Given the description of an element on the screen output the (x, y) to click on. 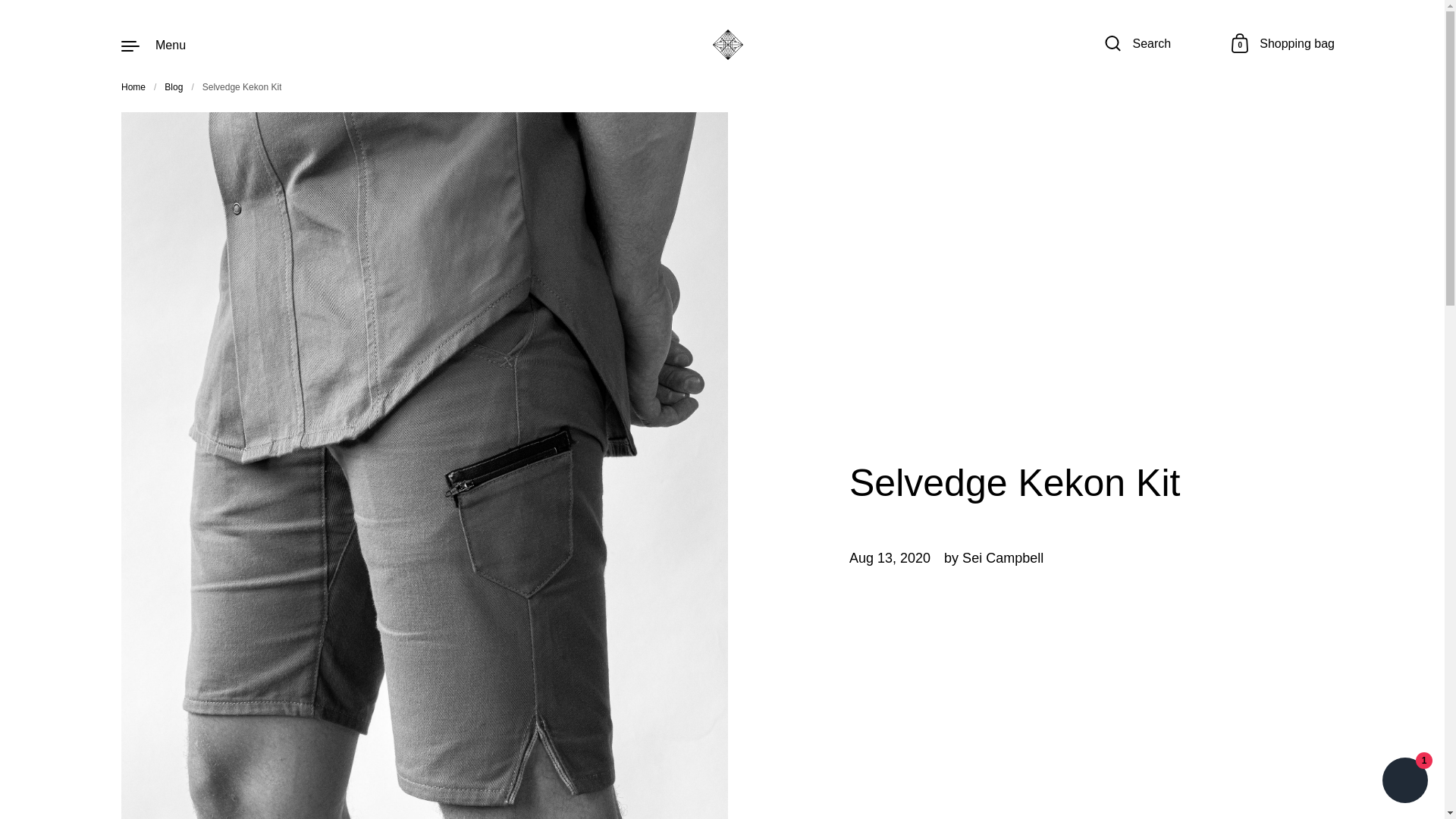
Shopify online store chat (1283, 44)
Blog (1404, 781)
Home (173, 86)
Menu (132, 86)
Skip to content (153, 44)
Search (727, 44)
